Given the description of an element on the screen output the (x, y) to click on. 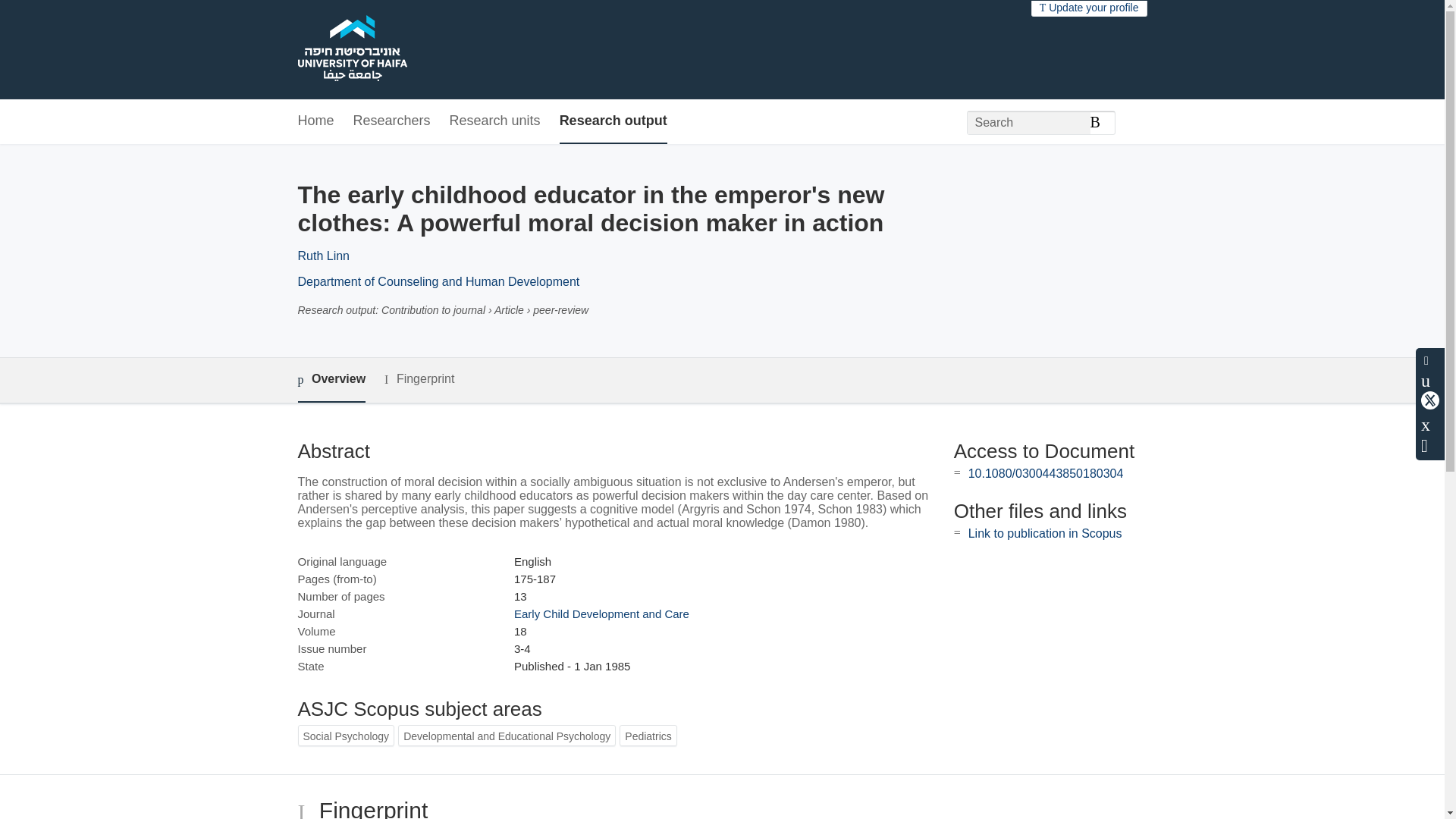
Overview (331, 379)
Department of Counseling and Human Development (438, 281)
Ruth Linn (323, 255)
Research output (612, 121)
Link to publication in Scopus (1045, 533)
Research units (494, 121)
Researchers (391, 121)
Update your profile (1089, 7)
University of Haifa Home (351, 49)
Fingerprint (419, 379)
Early Child Development and Care (600, 613)
